Given the description of an element on the screen output the (x, y) to click on. 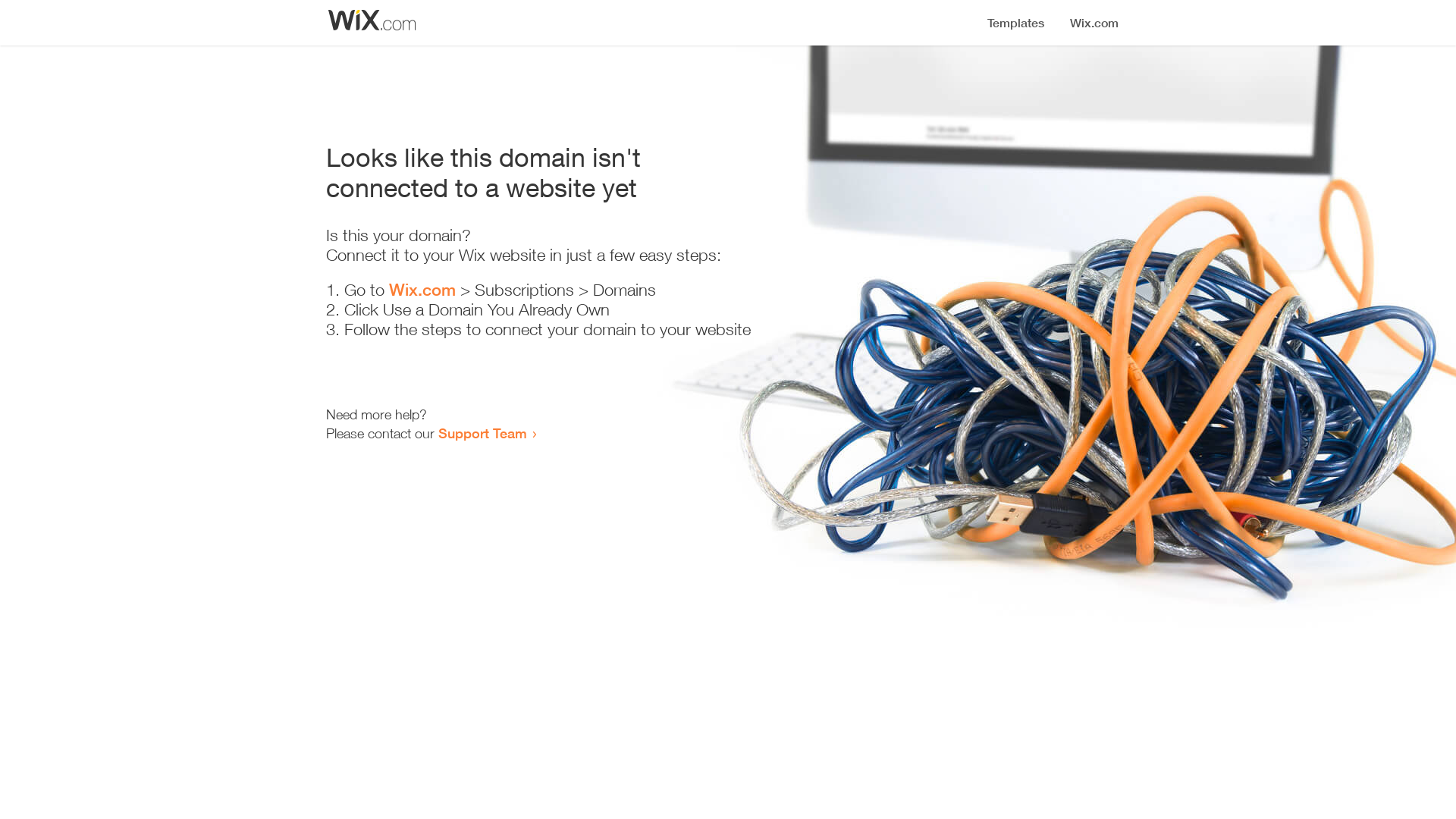
Wix.com Element type: text (422, 289)
Support Team Element type: text (482, 432)
